Given the description of an element on the screen output the (x, y) to click on. 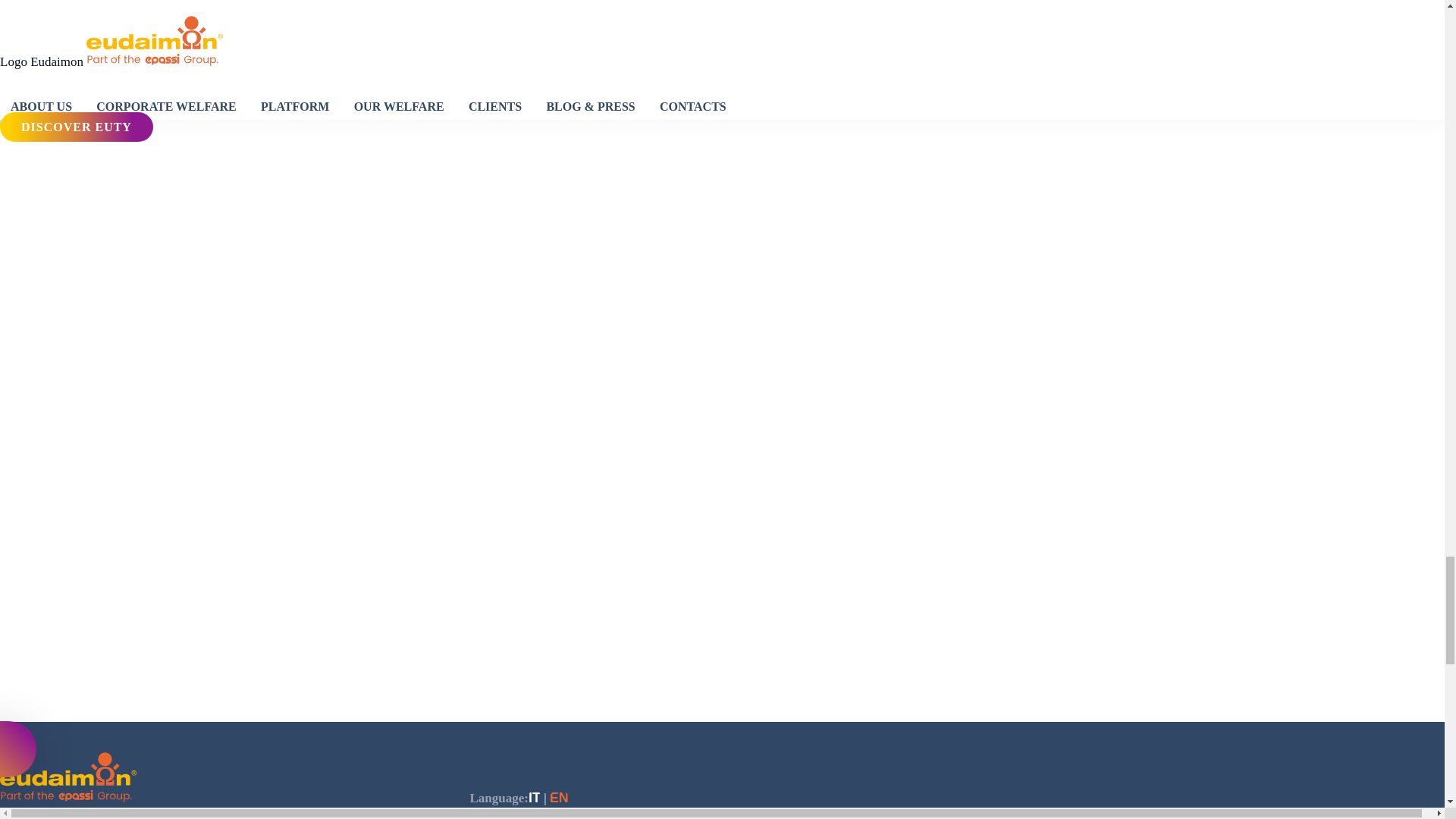
EN (217, 669)
EN (559, 797)
